Given the description of an element on the screen output the (x, y) to click on. 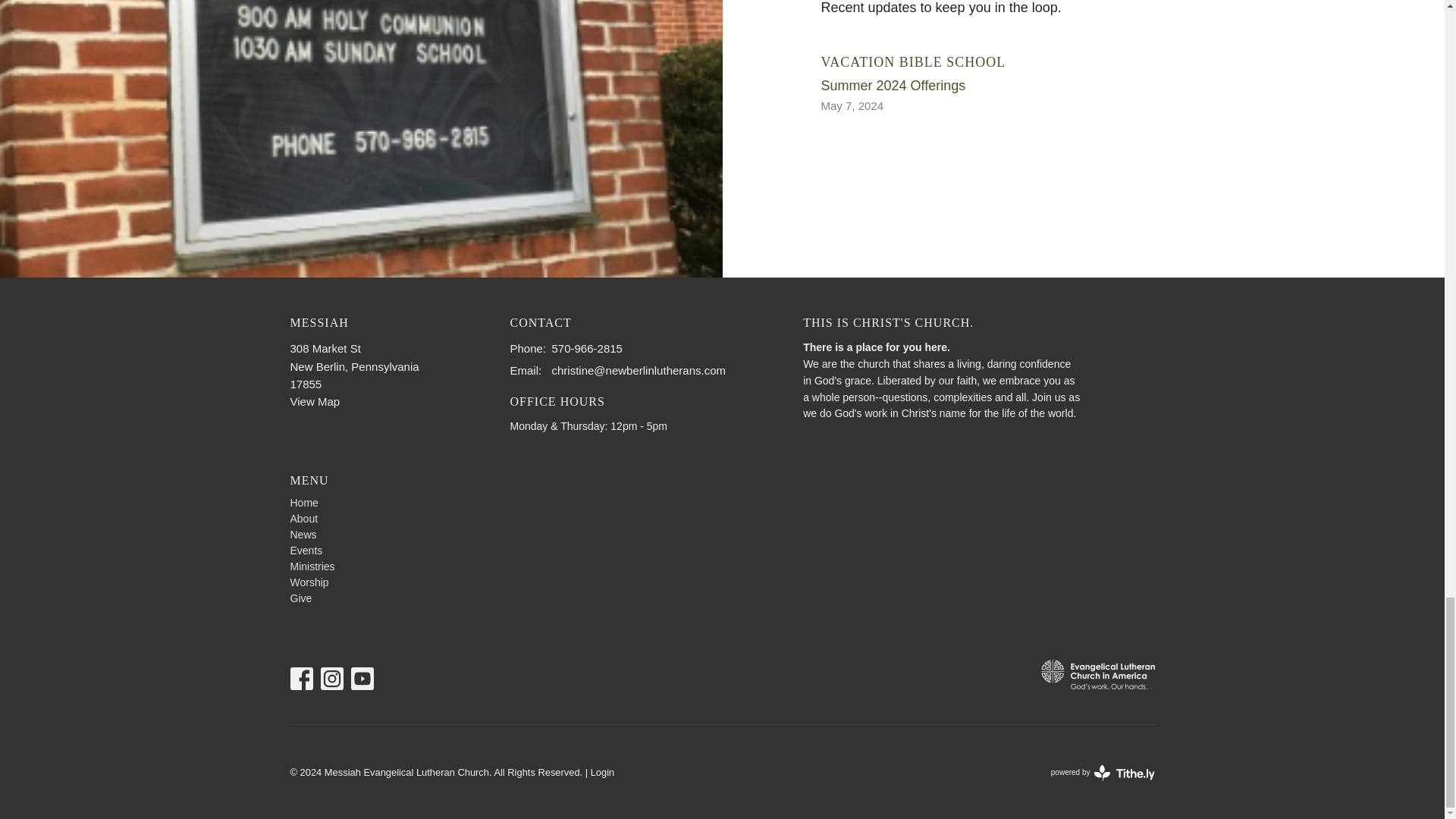
View Map (314, 400)
Worship (309, 582)
570-966-2815 (587, 348)
Give (300, 598)
News (302, 534)
translation missing: en.ui.email (523, 369)
Events (305, 550)
Ministries (311, 566)
About (303, 518)
Home (1083, 81)
